Given the description of an element on the screen output the (x, y) to click on. 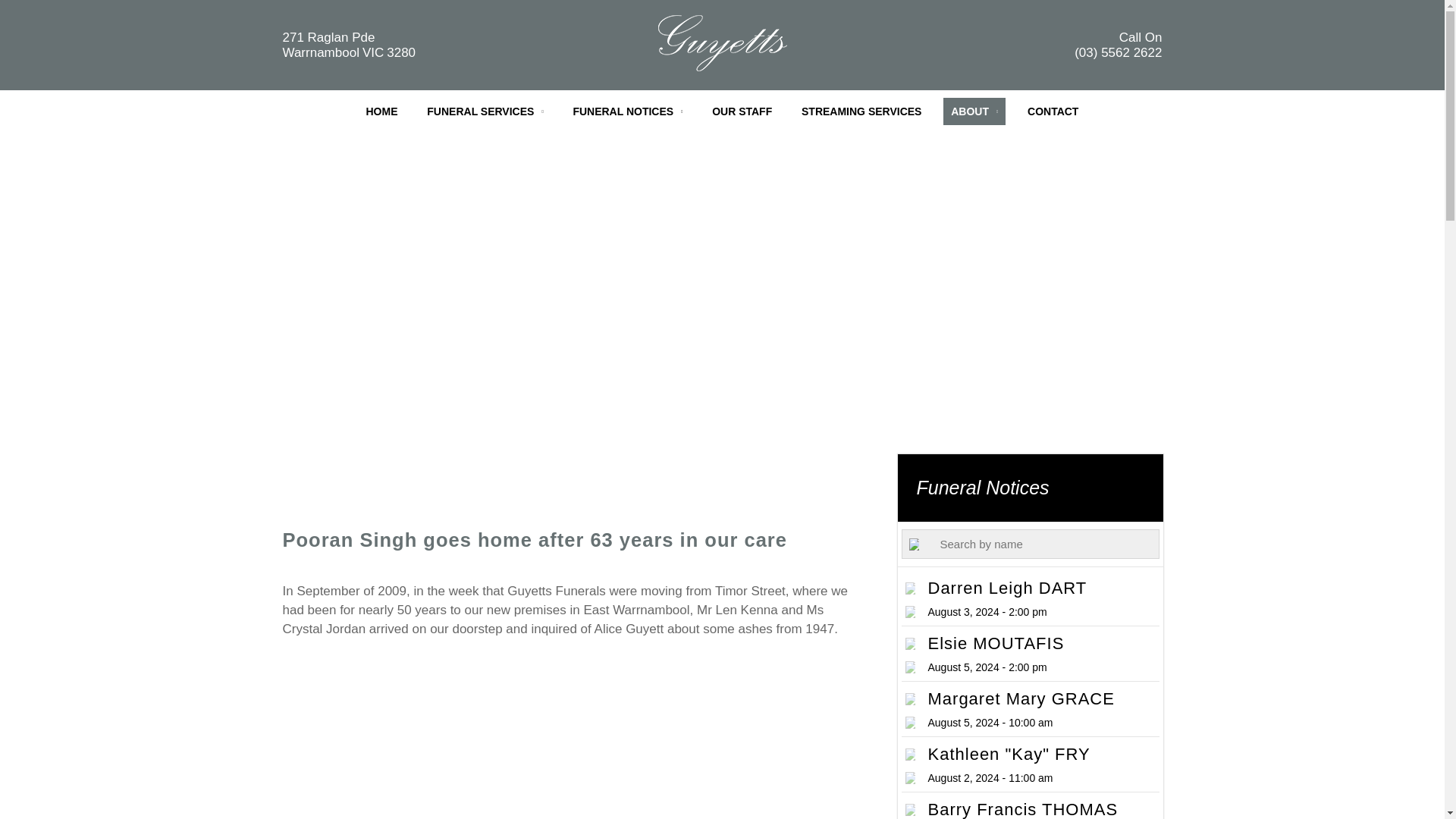
Funeral Notices (1030, 708)
